Given the description of an element on the screen output the (x, y) to click on. 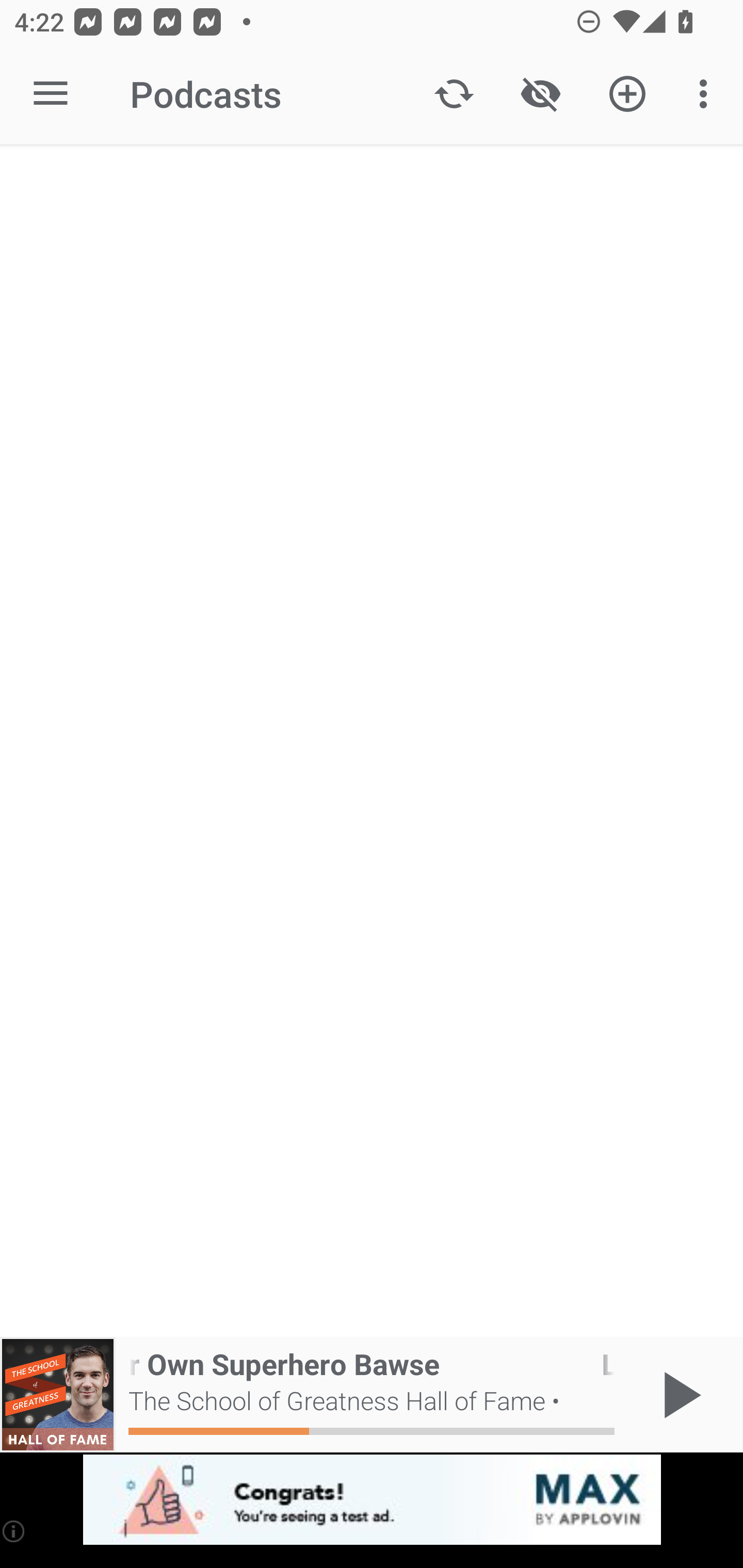
Open navigation sidebar (50, 93)
Update (453, 93)
Show / Hide played content (540, 93)
Add new Podcast (626, 93)
More options (706, 93)
Play / Pause (677, 1394)
app-monetization (371, 1500)
(i) (14, 1531)
